Given the description of an element on the screen output the (x, y) to click on. 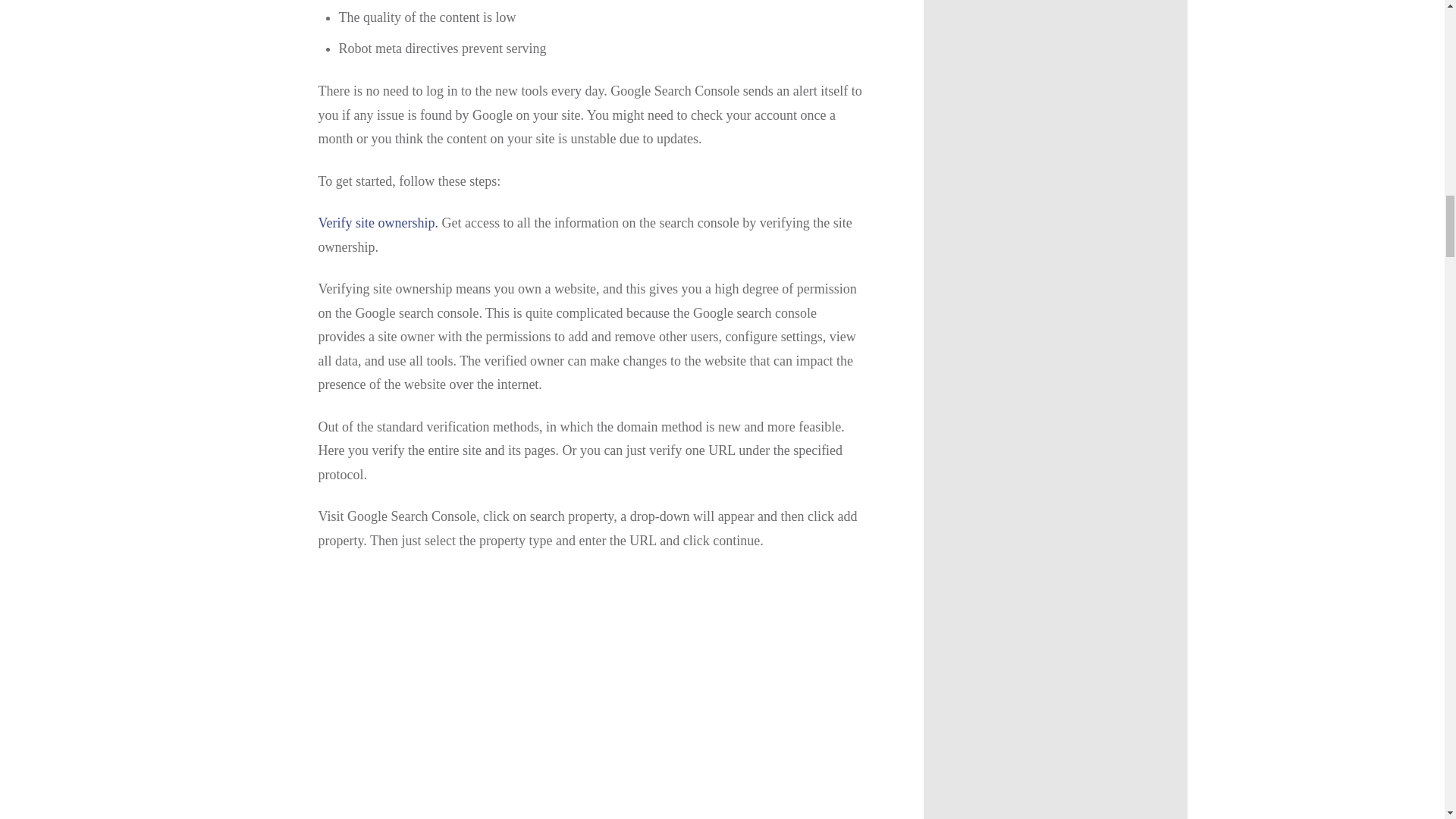
Verify site ownership. (378, 222)
